Given the description of an element on the screen output the (x, y) to click on. 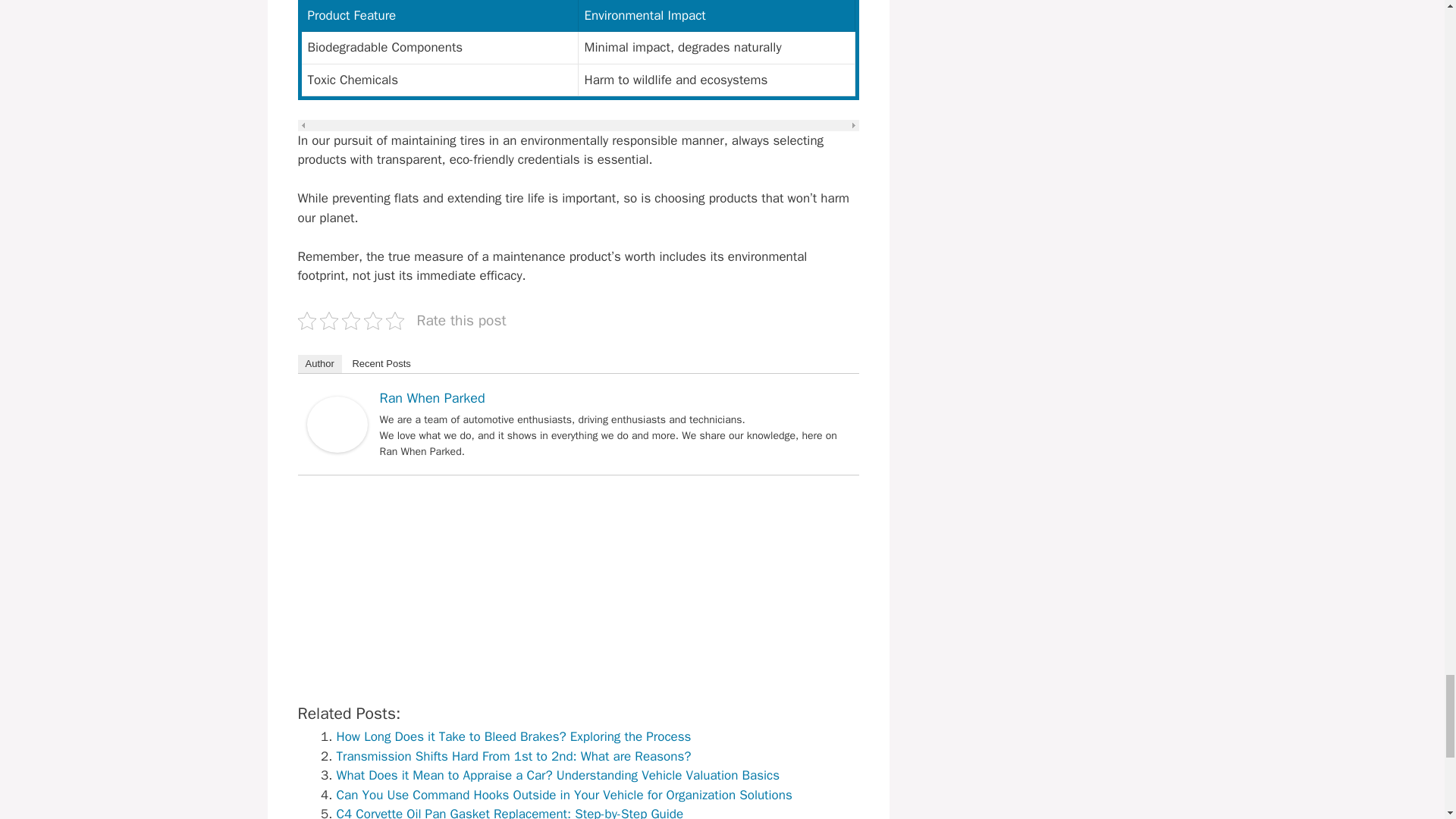
Transmission Shifts Hard From 1st to 2nd: What are Reasons? (513, 756)
Ran When Parked (335, 448)
How Long Does it Take to Bleed Brakes? Exploring the Process (513, 736)
C4 Corvette Oil Pan Gasket Replacement: Step-by-Step Guide (510, 812)
